Given the description of an element on the screen output the (x, y) to click on. 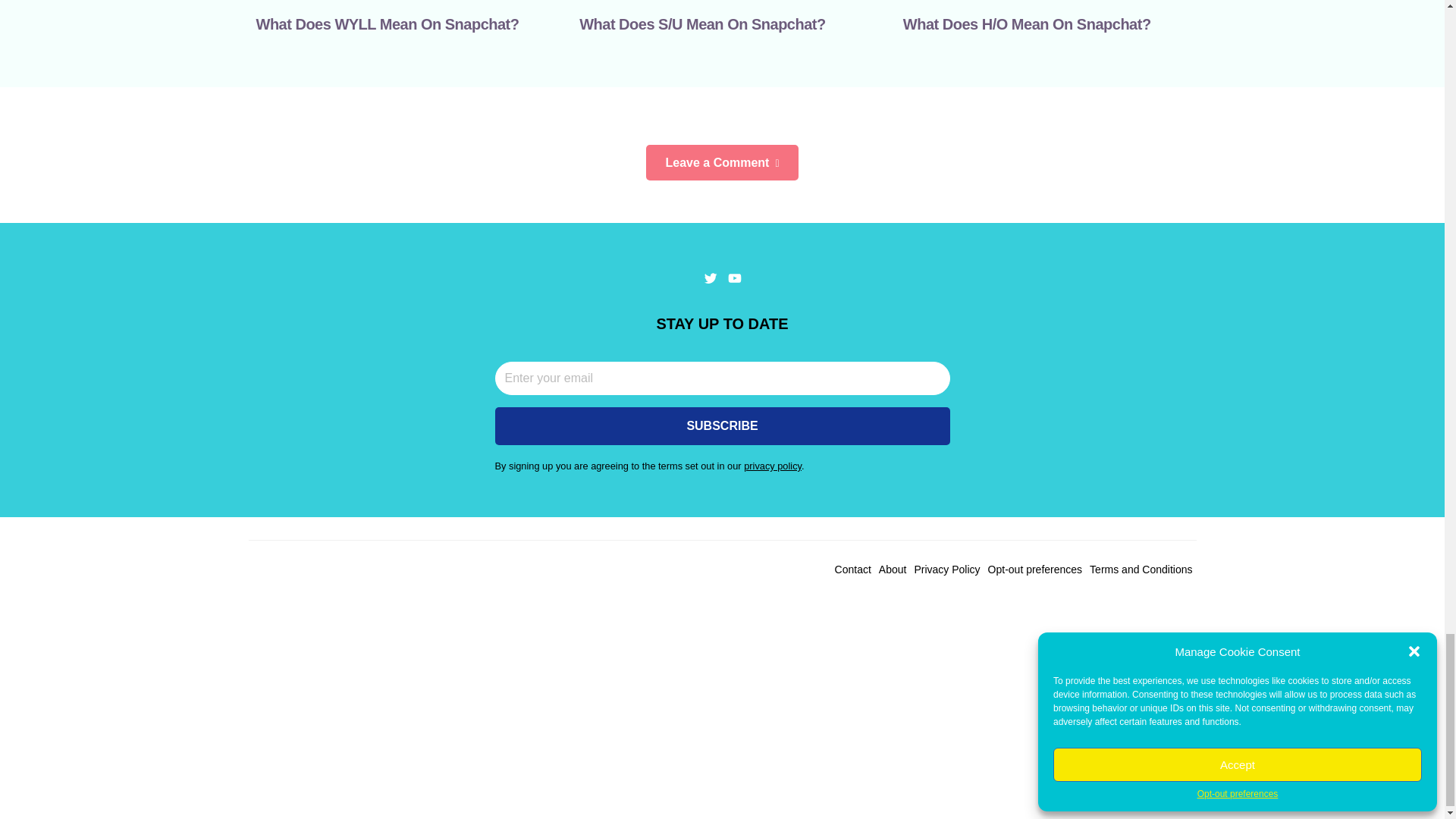
What Does WYLL Mean On Snapchat? (387, 23)
Subscribe (722, 426)
Twitter (709, 278)
